Given the description of an element on the screen output the (x, y) to click on. 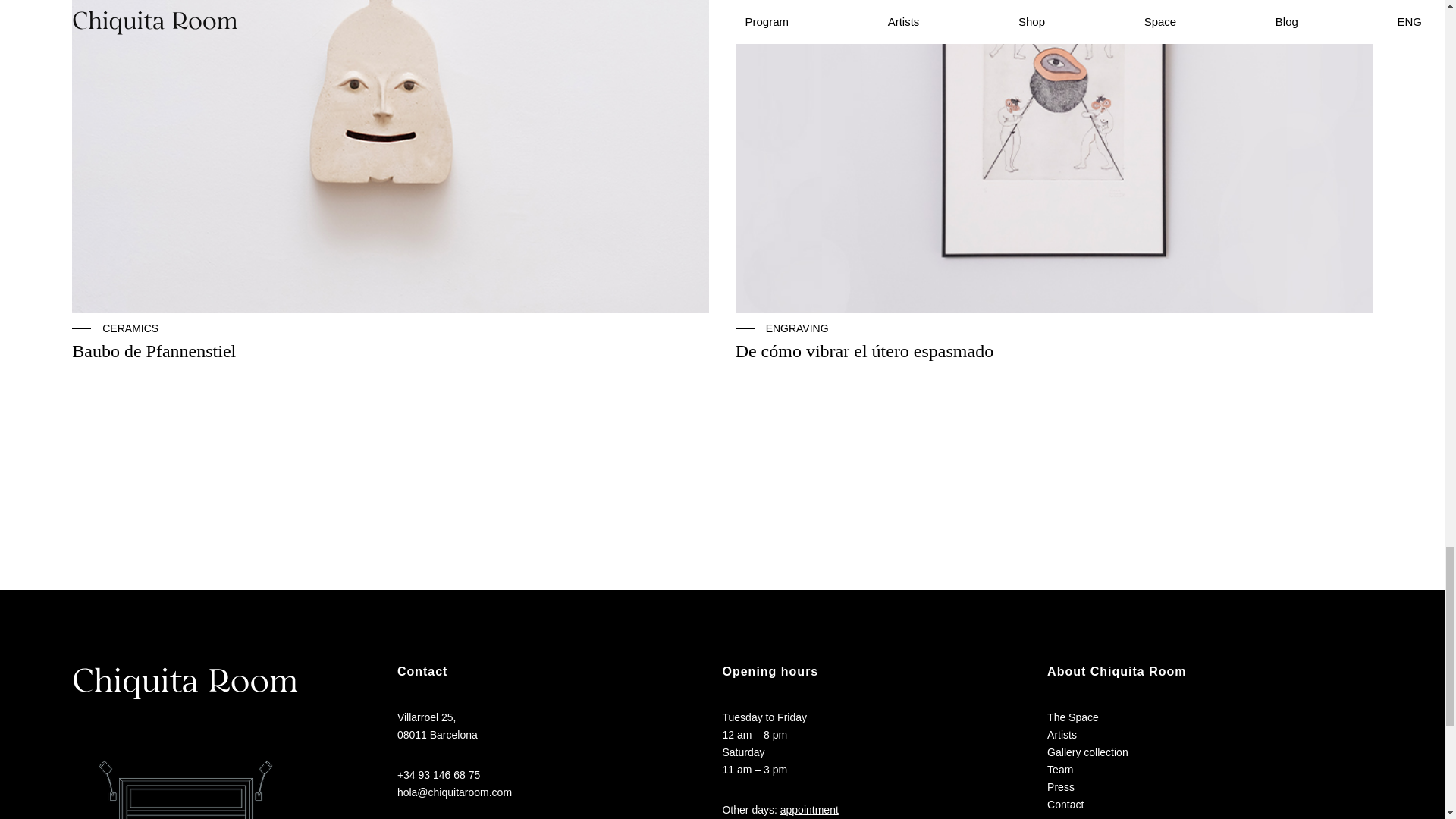
appointment (809, 809)
Artists (1061, 734)
The Space (1072, 717)
Contact (1064, 805)
Gallery collection (1087, 752)
Team (1059, 769)
Press (1060, 787)
